Given the description of an element on the screen output the (x, y) to click on. 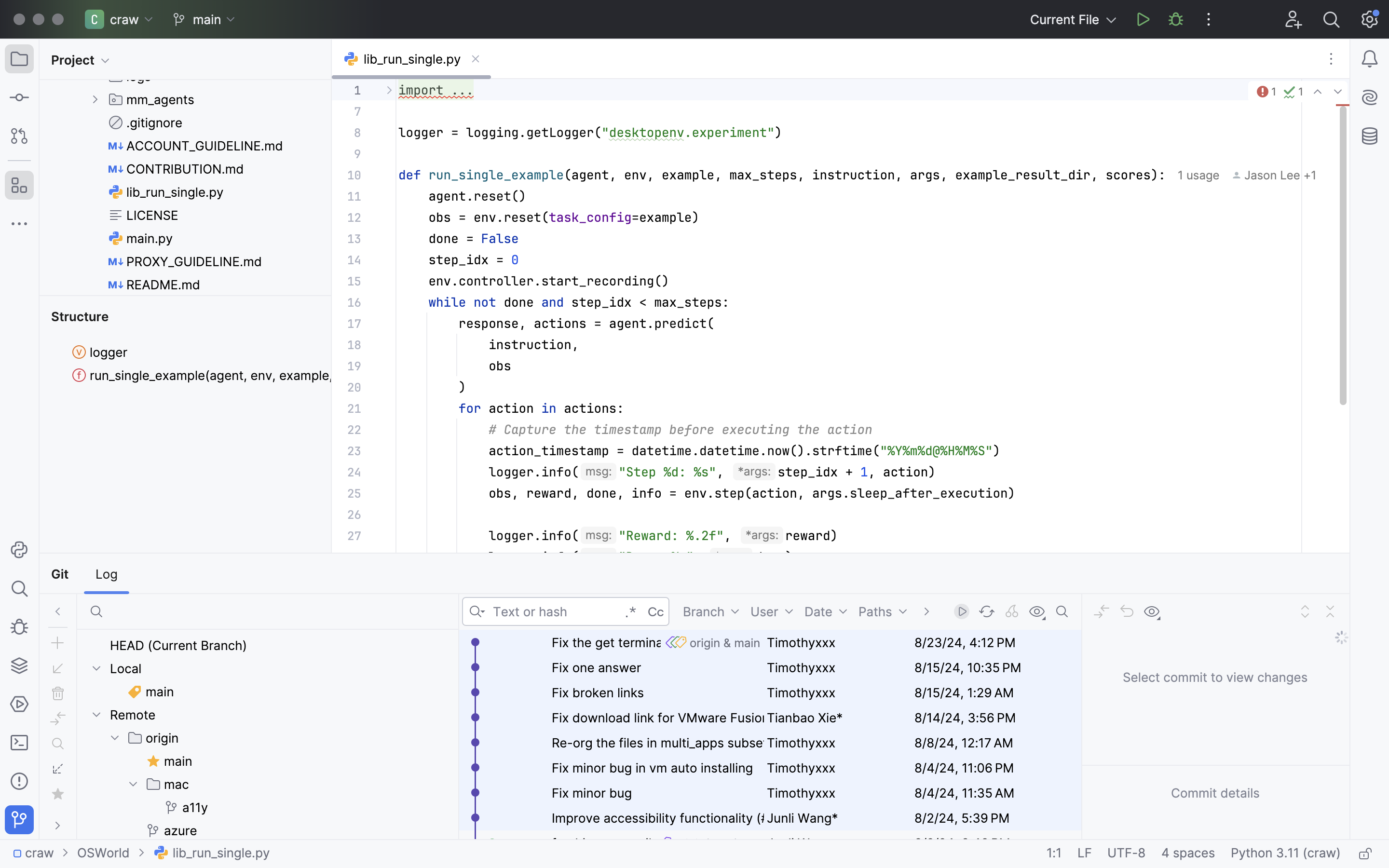
0 0 0 Structure 0 0 0 0 0 0 0 0 0 0 0 0 0 0 0 0 0 0 0 0 Element type: AXGroup (185, 424)
LF Element type: AXStaticText (1084, 854)
UTF-8 Element type: AXStaticText (1126, 854)
Problems Element type: AXStaticText (81, 573)
